Given the description of an element on the screen output the (x, y) to click on. 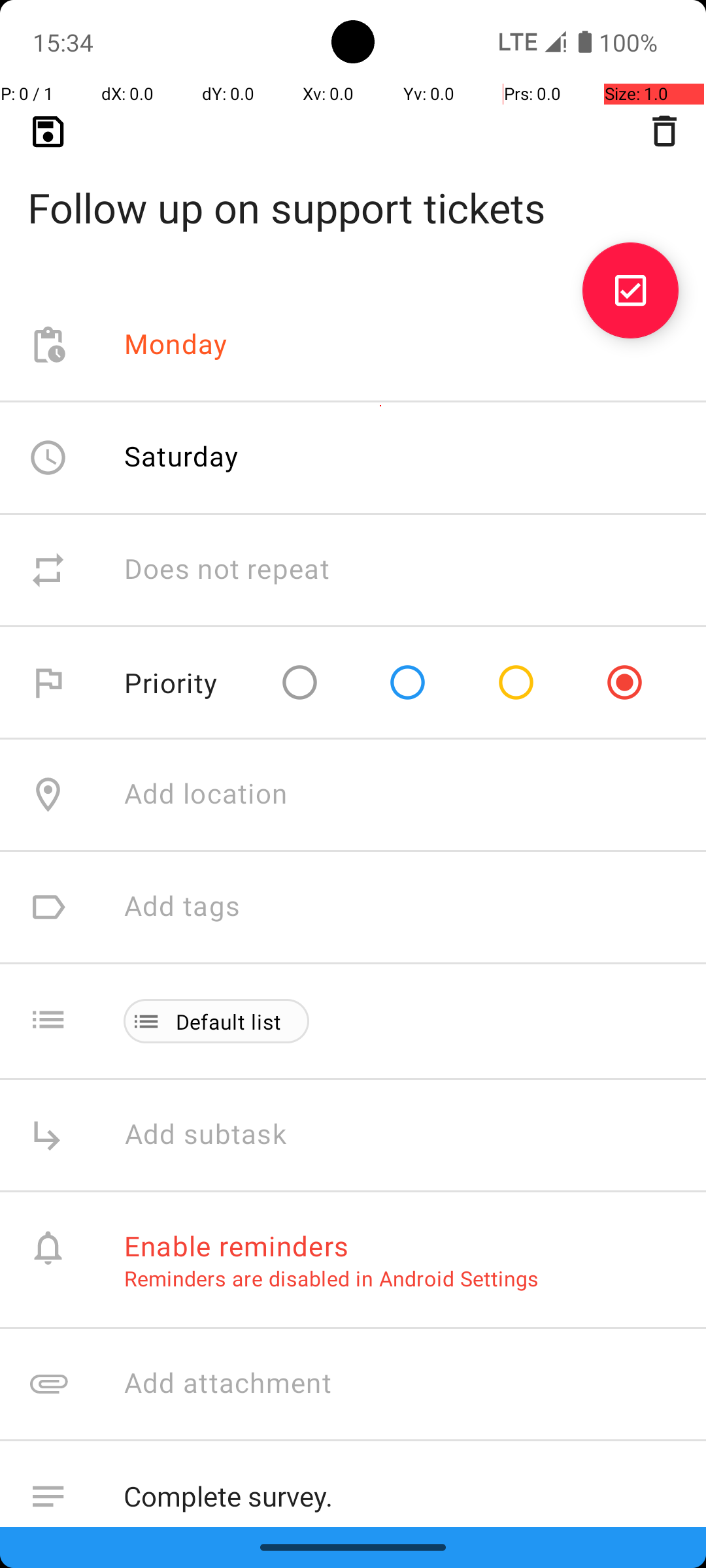
Follow up on support tickets Element type: android.widget.EditText (353, 186)
Saturday Element type: android.widget.TextView (181, 455)
Complete survey. Element type: android.widget.EditText (400, 1493)
